Given the description of an element on the screen output the (x, y) to click on. 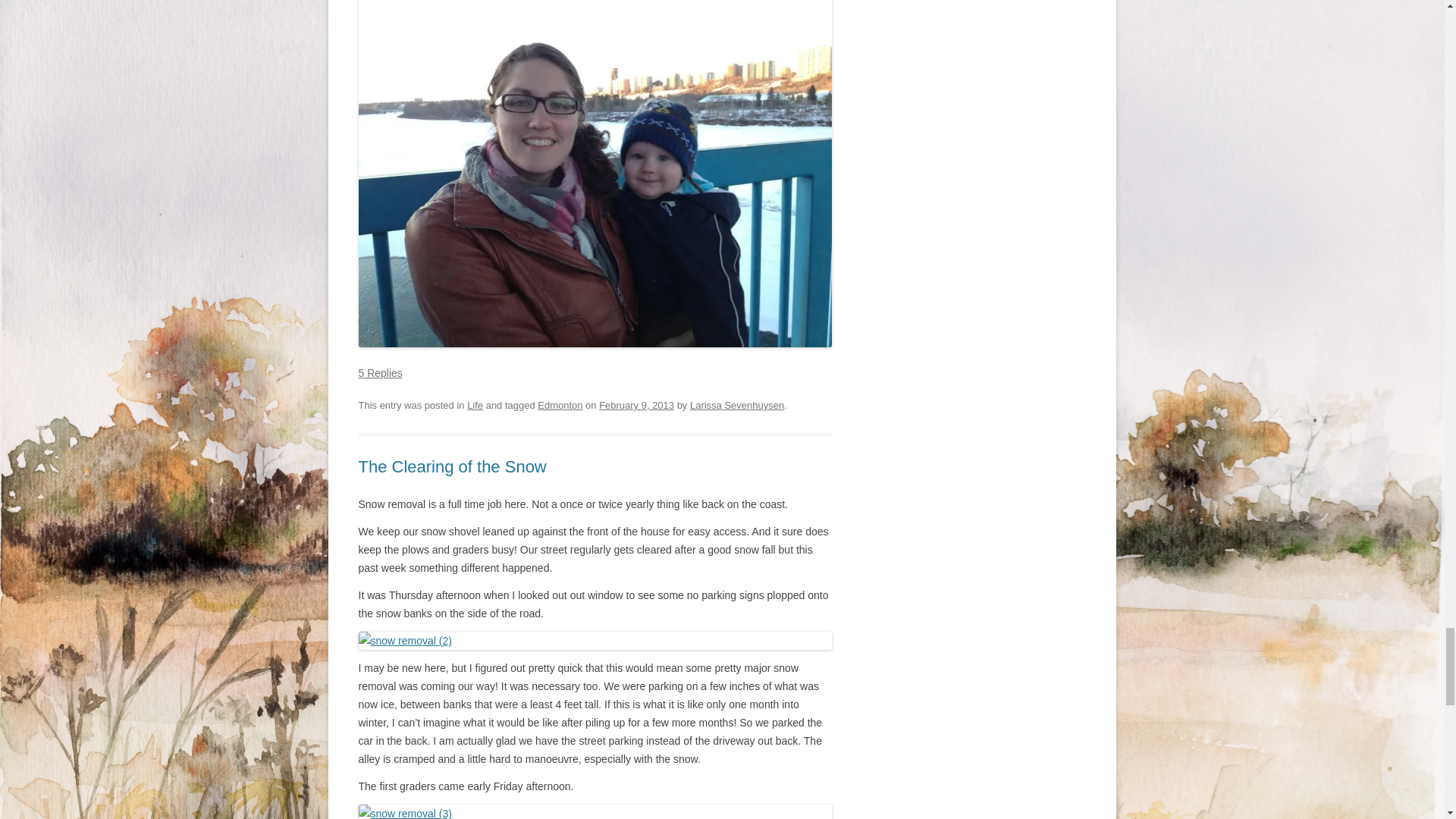
10:35 am (636, 405)
